Given the description of an element on the screen output the (x, y) to click on. 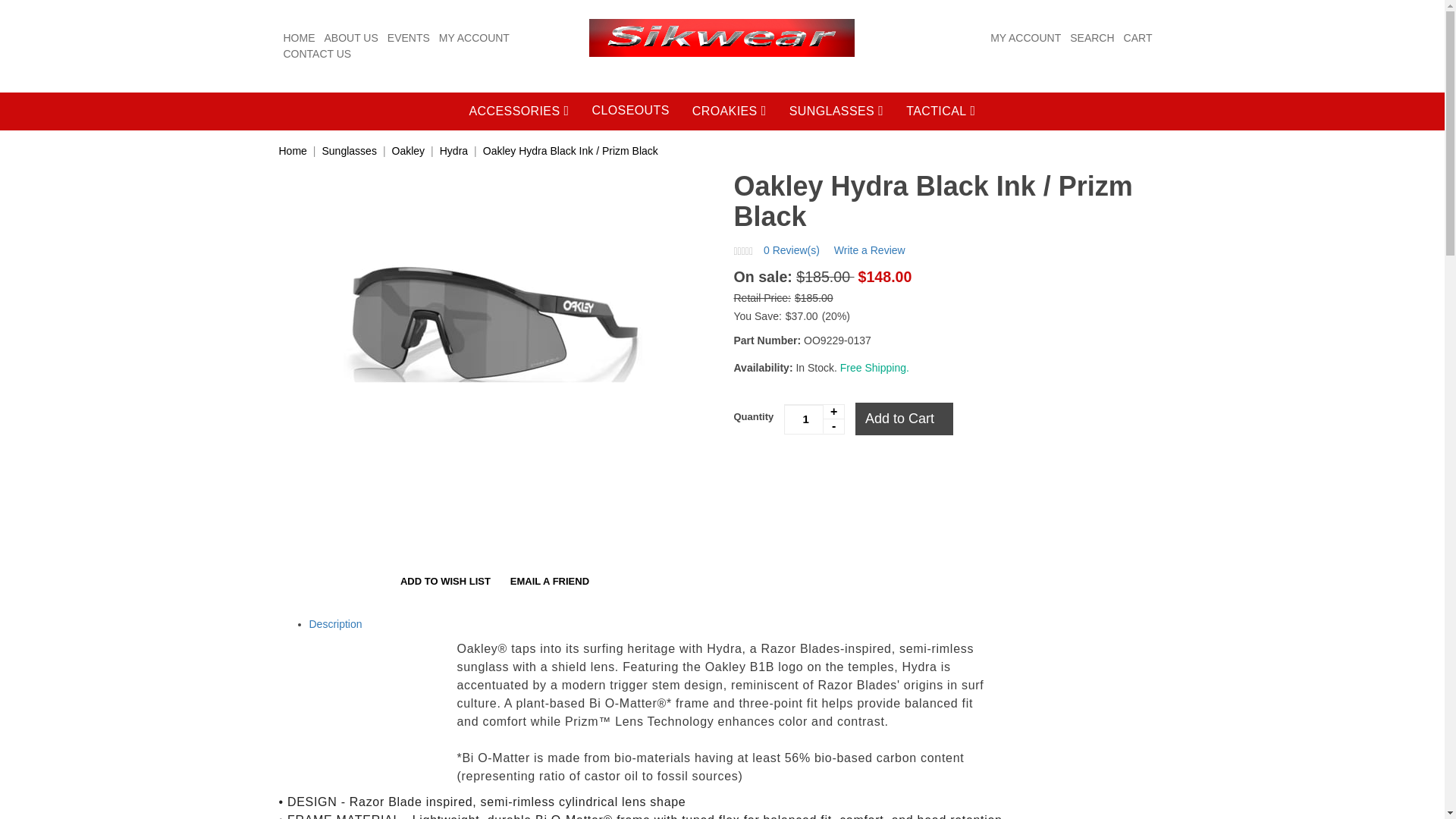
1 (814, 419)
CROAKIES (729, 111)
CART (1138, 37)
CLOSEOUTS (630, 111)
SEARCH (1091, 37)
MY ACCOUNT (1025, 37)
ACCESSORIES (519, 111)
CONTACT US (317, 53)
EVENTS (408, 37)
MY ACCOUNT (474, 37)
HOME (299, 37)
ABOUT US (351, 37)
